Given the description of an element on the screen output the (x, y) to click on. 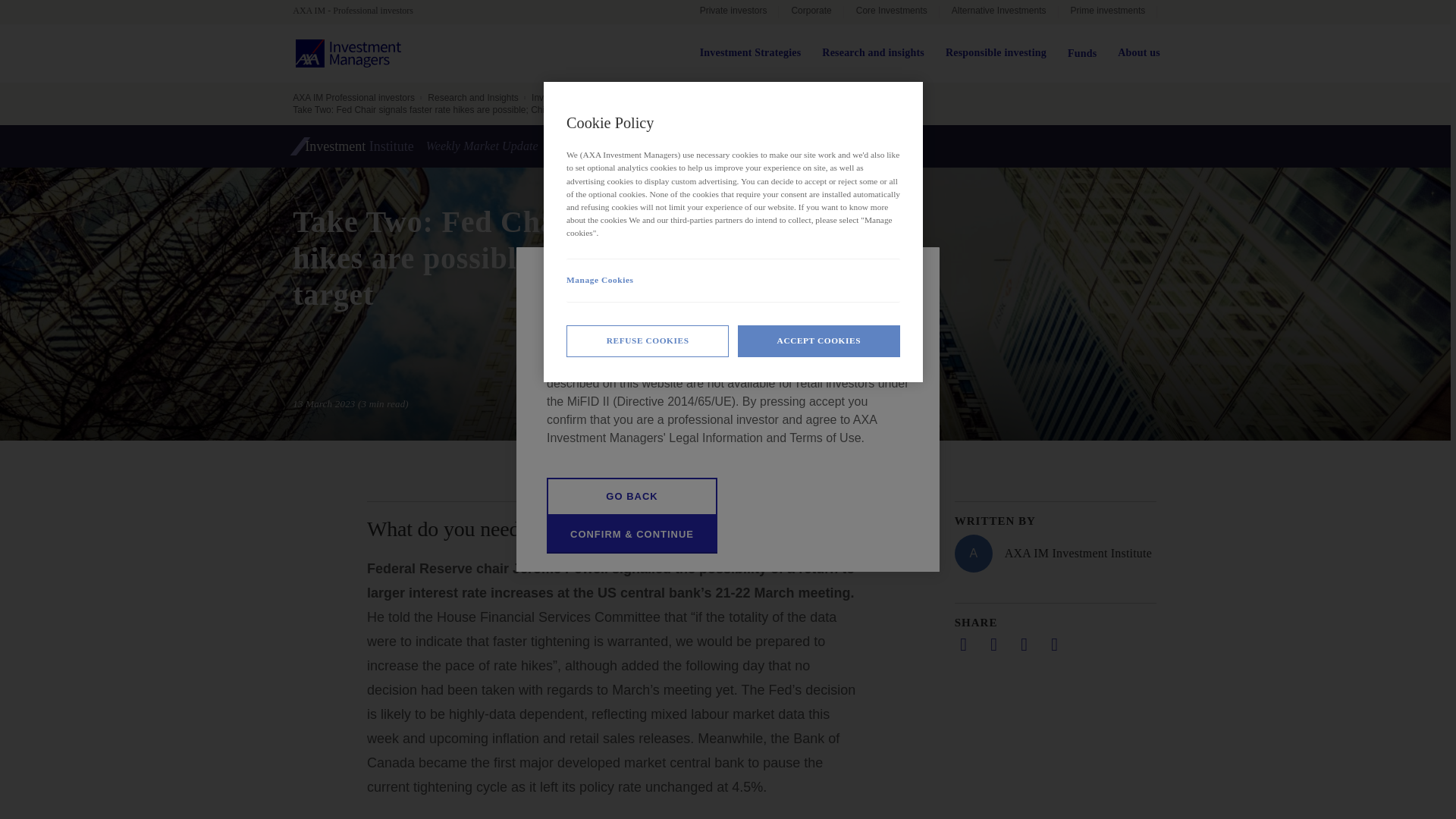
Core Investments (891, 12)
AXA IM - Professional investors (360, 10)
Investment Strategies (751, 53)
Share on twitter - New window (994, 644)
AXA IM - Professional investors, Home (360, 10)
Copy URL (1054, 644)
Private investors (732, 12)
GO BACK (632, 496)
Research and insights (873, 53)
Alternative Investments (998, 12)
